Given the description of an element on the screen output the (x, y) to click on. 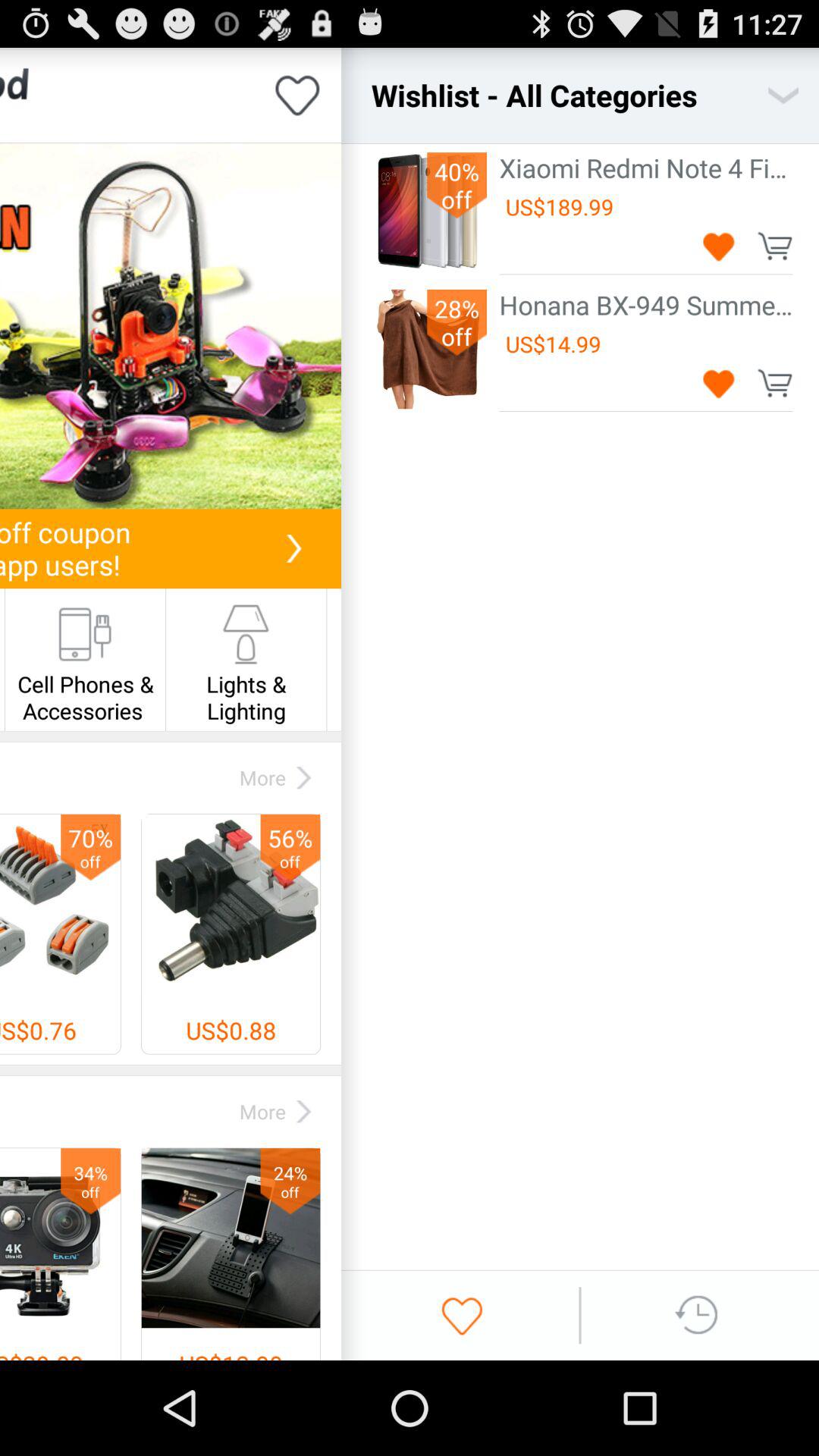
select product (170, 326)
